Given the description of an element on the screen output the (x, y) to click on. 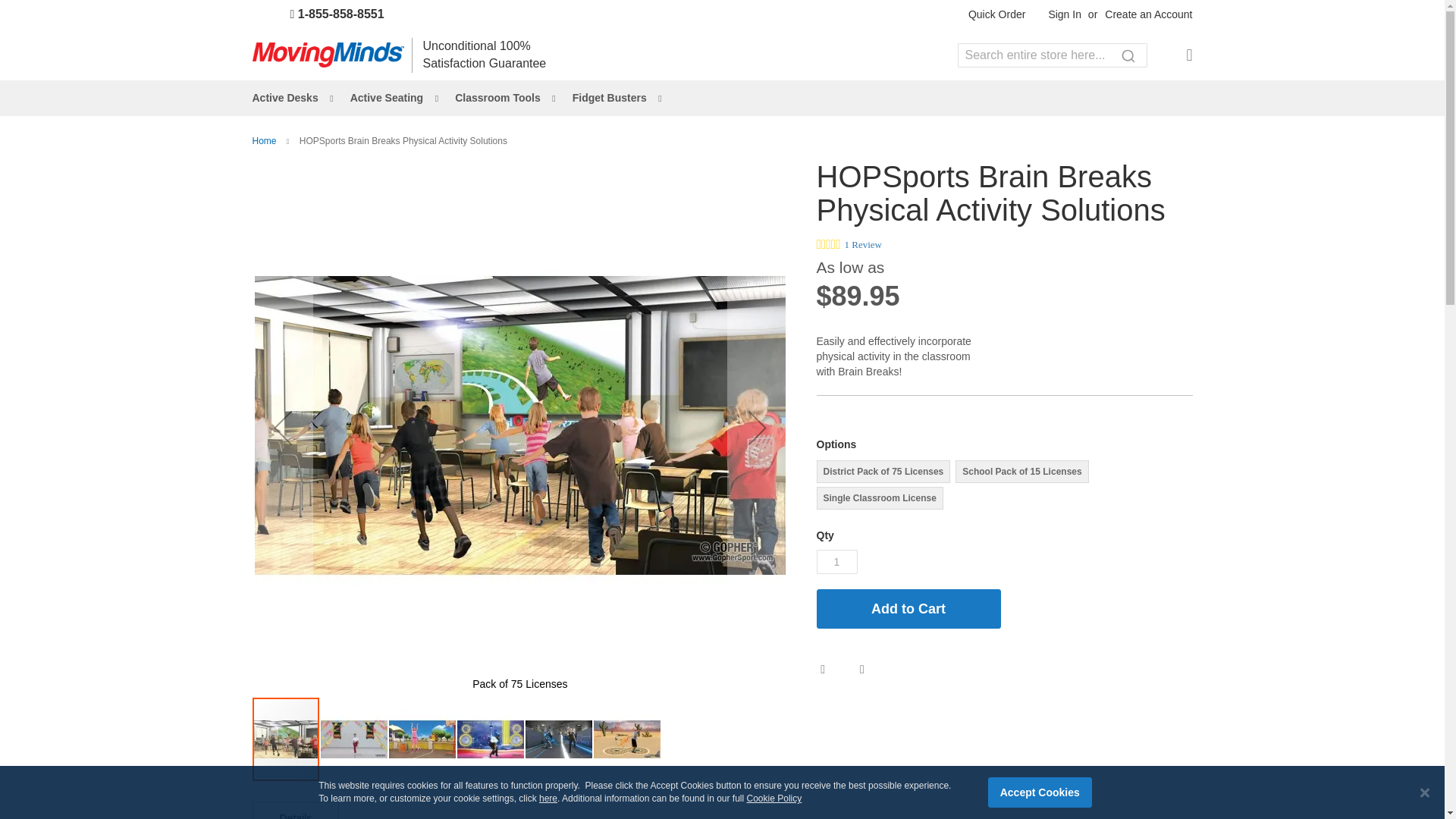
1 (836, 561)
Home (264, 140)
Submit (1127, 55)
Create an Account (1148, 14)
Add to Cart (907, 608)
1 Review (863, 244)
Moving Minds Logo (327, 54)
Moving Minds Logo (327, 55)
Classroom Tools (500, 98)
Active Seating (389, 98)
Active Desks (288, 98)
1-855-858-8551 (325, 13)
Availability (1156, 326)
Qty (836, 561)
Go to Home Page (264, 140)
